Given the description of an element on the screen output the (x, y) to click on. 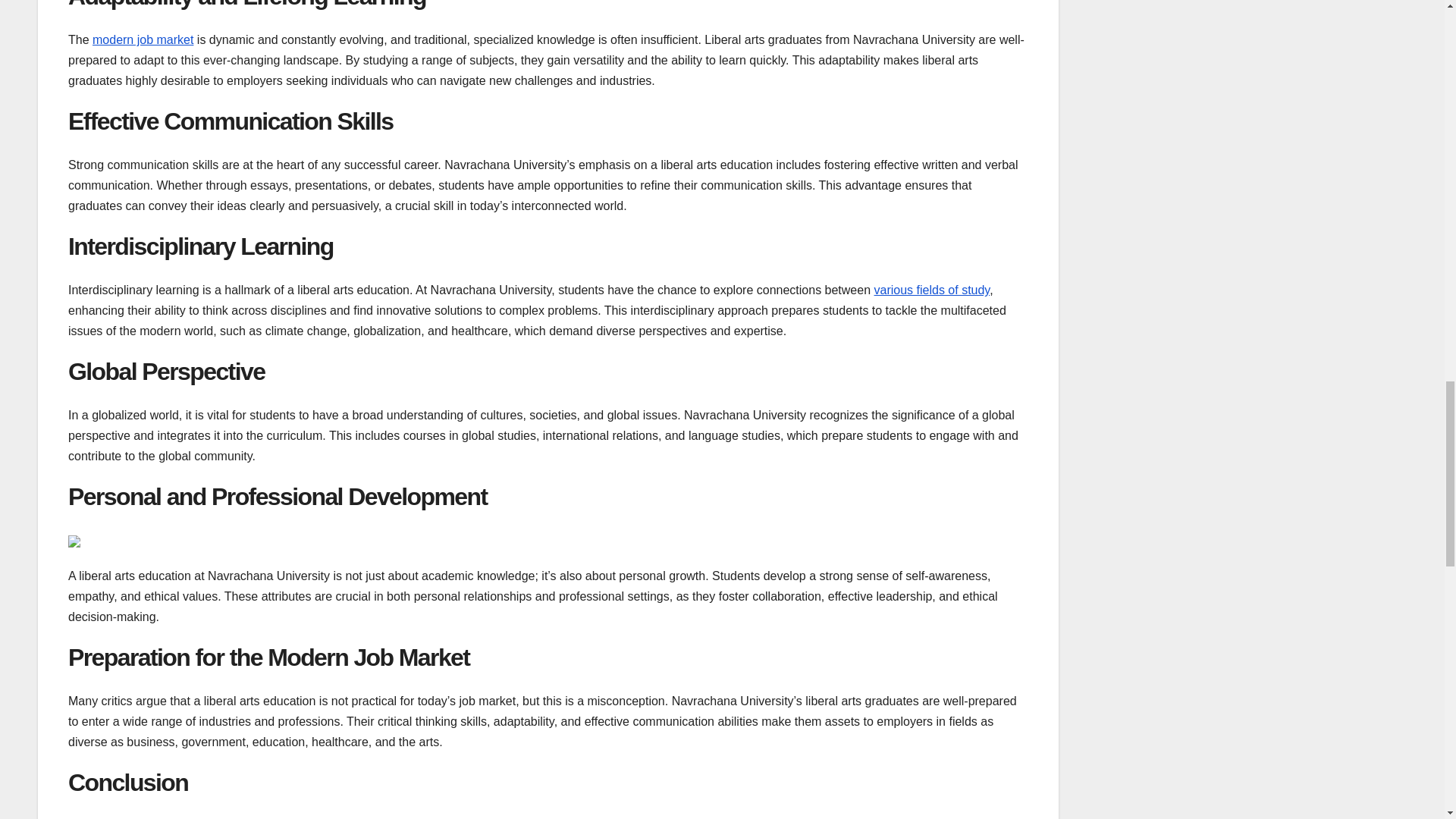
modern job market (143, 39)
various fields of study (932, 289)
